Given the description of an element on the screen output the (x, y) to click on. 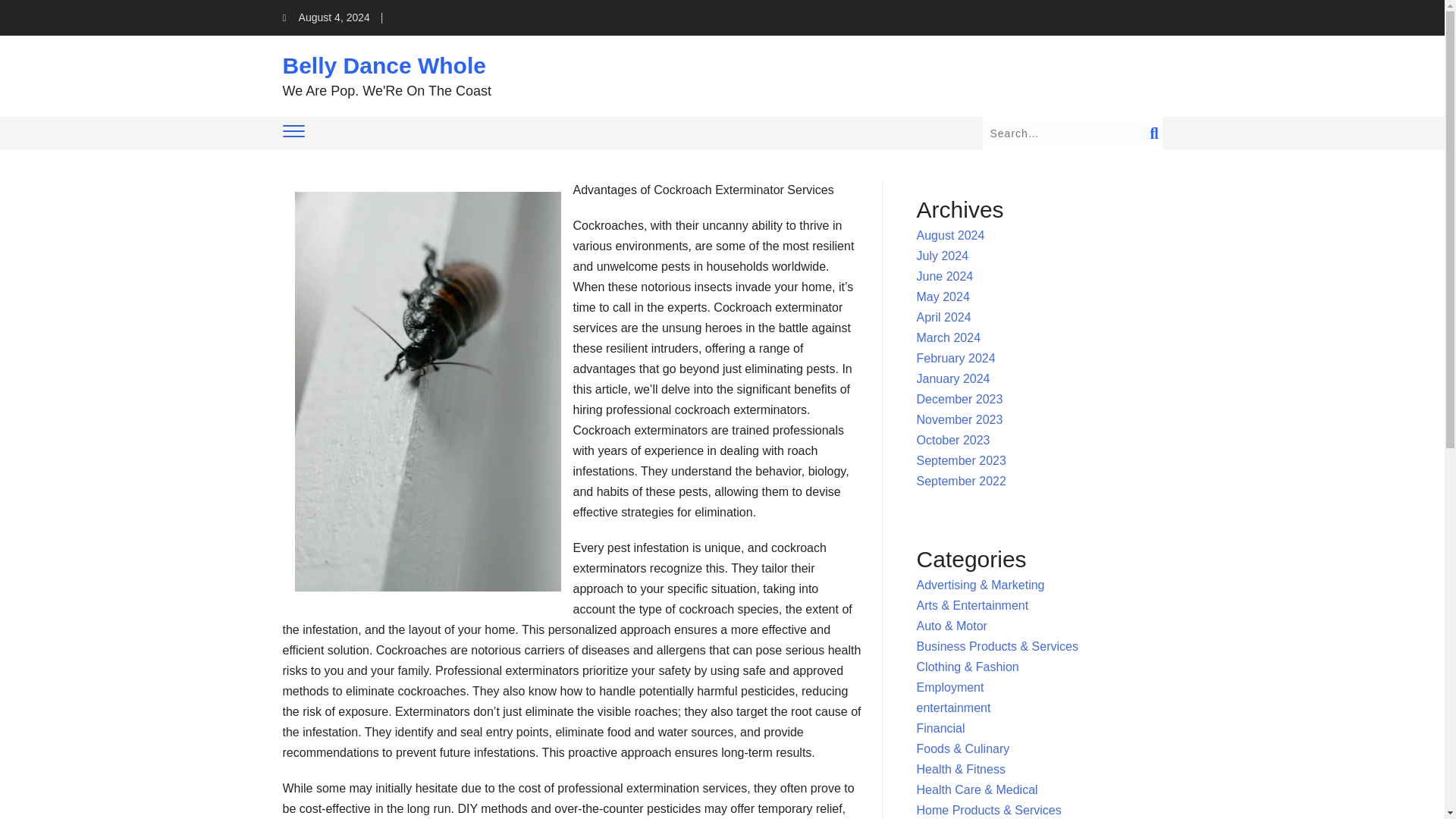
February 2024 (956, 358)
December 2023 (960, 399)
June 2024 (945, 276)
September 2022 (961, 481)
March 2024 (949, 337)
May 2024 (943, 296)
January 2024 (953, 378)
Belly Dance Whole (383, 65)
Employment (950, 686)
November 2023 (960, 419)
entertainment (954, 707)
April 2024 (944, 317)
Financial (941, 727)
August 2024 (951, 235)
October 2023 (953, 440)
